Given the description of an element on the screen output the (x, y) to click on. 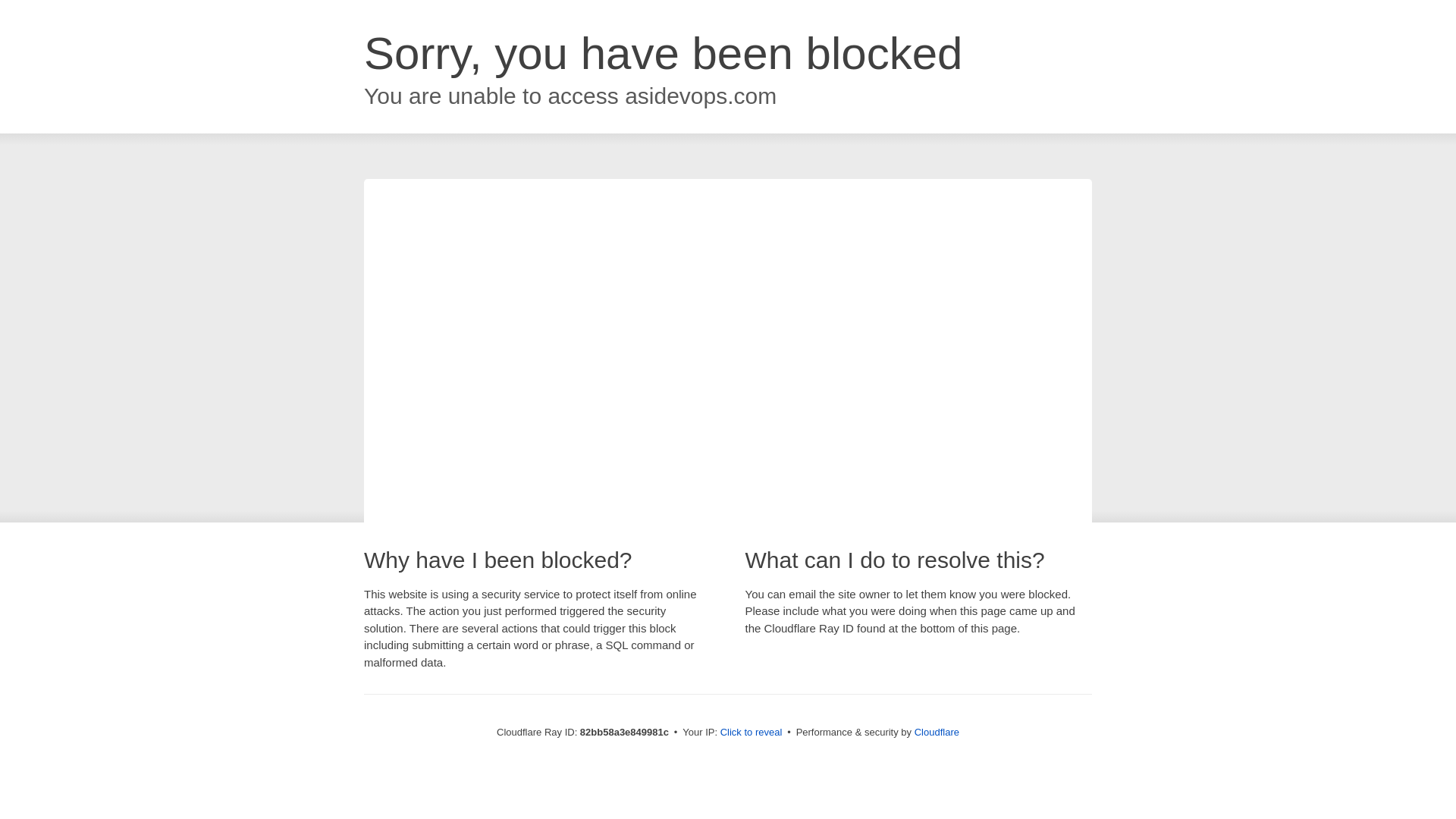
Cloudflare Element type: text (936, 731)
Click to reveal Element type: text (751, 732)
